Given the description of an element on the screen output the (x, y) to click on. 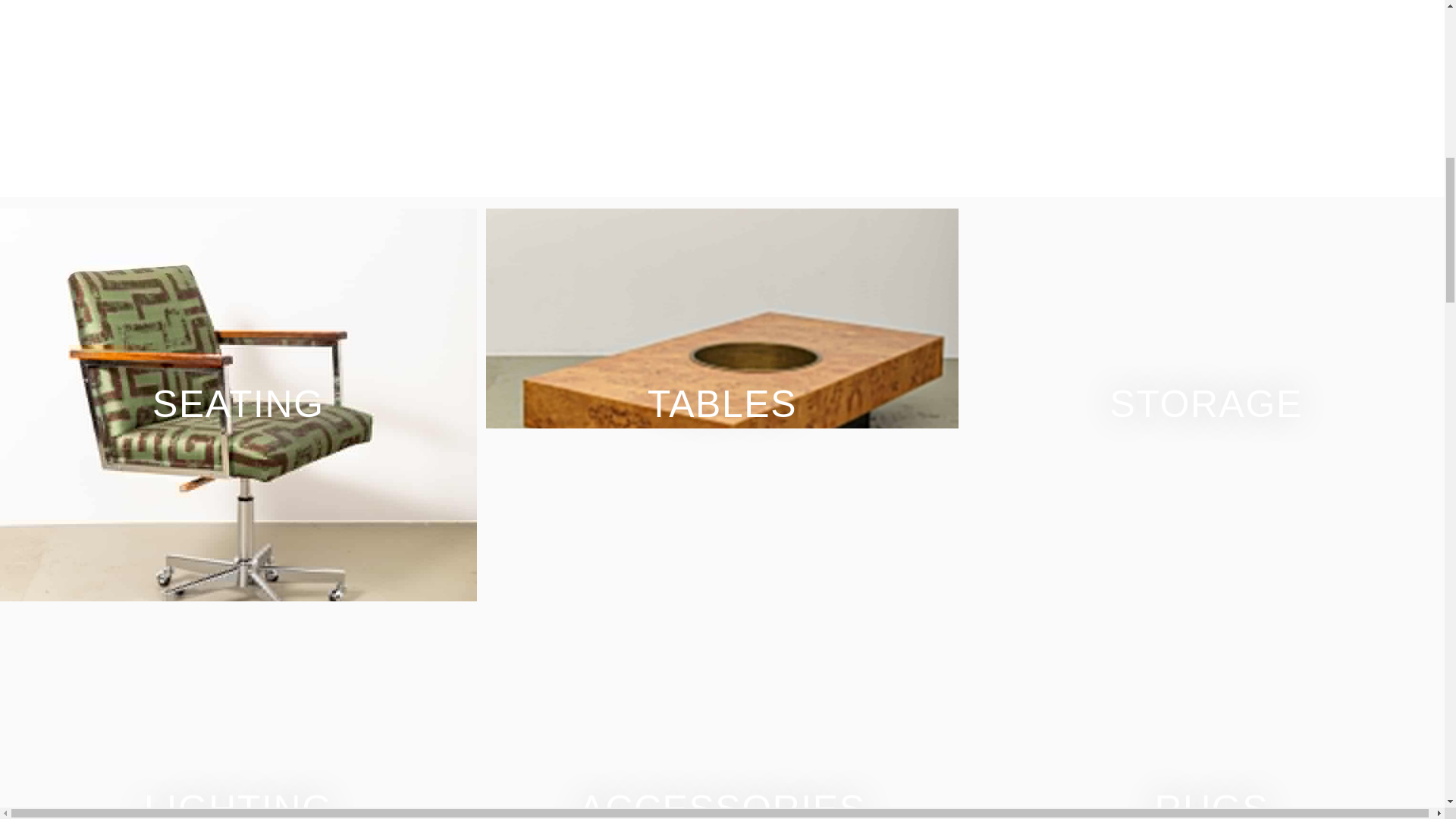
STORAGE (1205, 404)
LIGHTING (237, 800)
SEATING (237, 404)
ACCESSORIES (721, 800)
RUGS (1212, 800)
TABLES (721, 404)
